Given the description of an element on the screen output the (x, y) to click on. 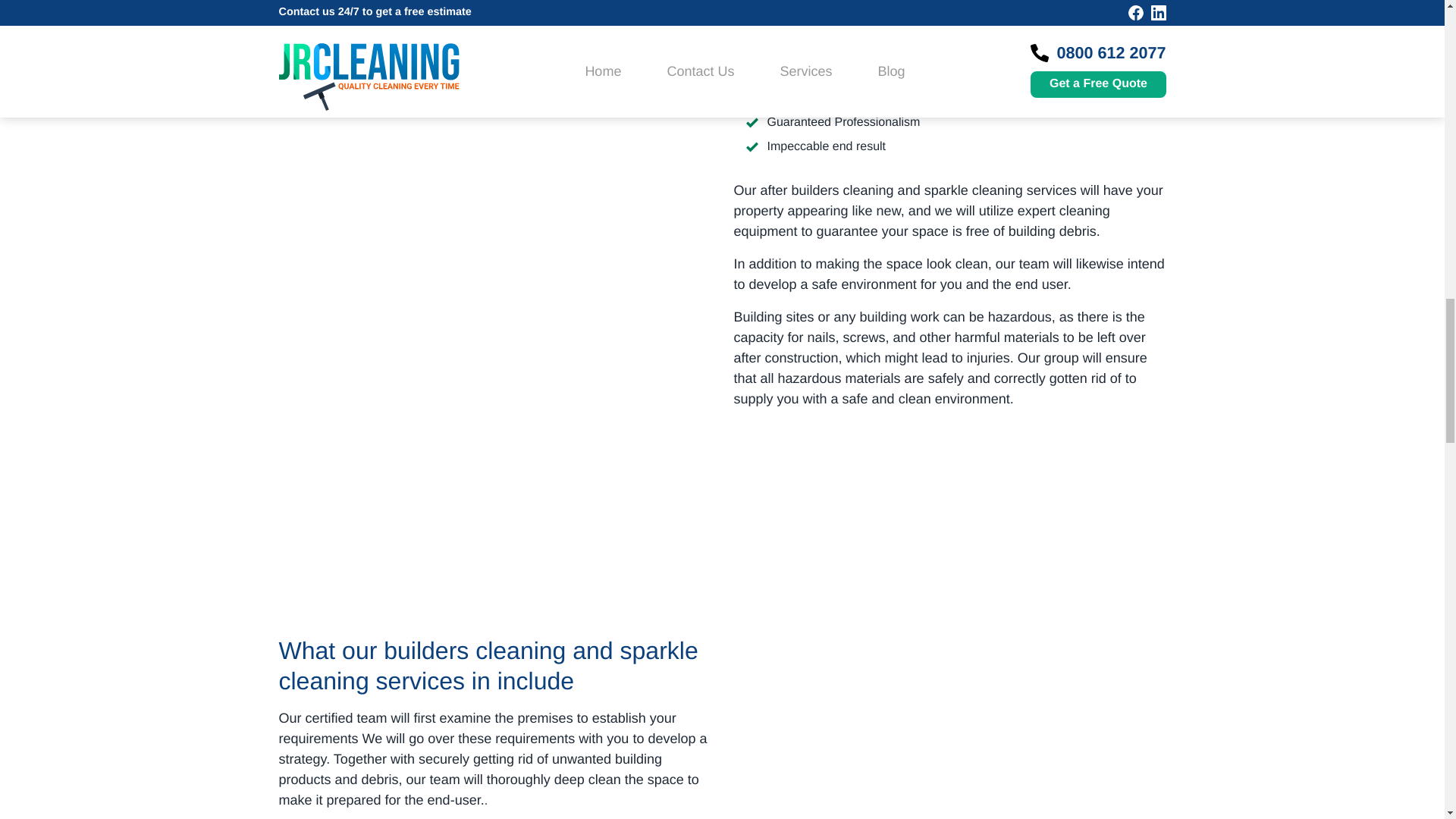
Carpet cleaning (949, 734)
House cleaning (495, 122)
